Given the description of an element on the screen output the (x, y) to click on. 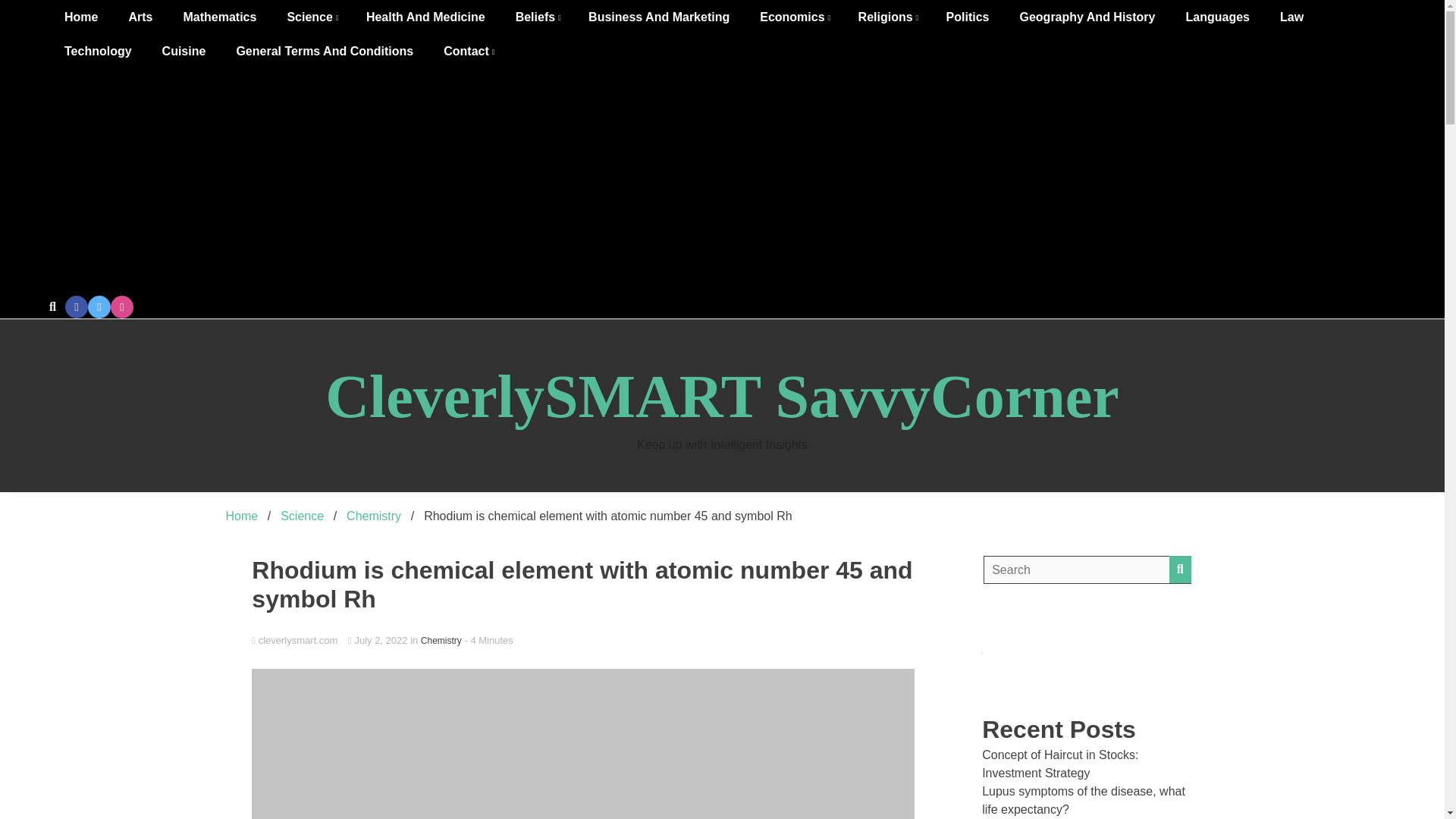
Science (310, 17)
Mathematics (218, 17)
Arts (140, 17)
Health And Medicine (425, 17)
Languages (1216, 17)
Law (1292, 17)
Religions (887, 17)
Politics (967, 17)
Geography And History (1087, 17)
